Given the description of an element on the screen output the (x, y) to click on. 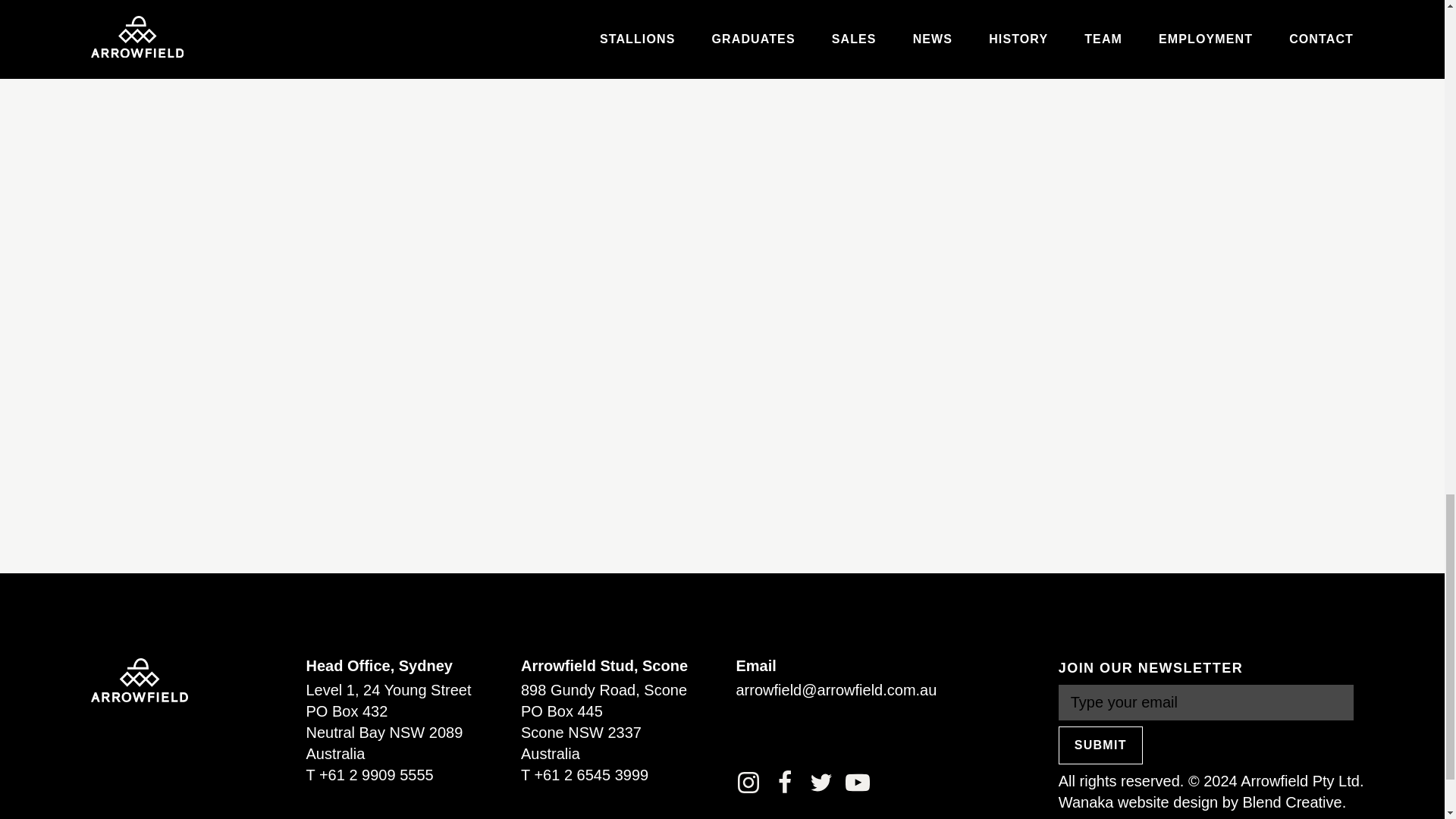
Arrowfield (138, 679)
Return to the homepage (138, 679)
Arrowfield (138, 679)
SUBMIT (1100, 745)
Wanaka website design by Blend Creative. (1201, 801)
